Given the description of an element on the screen output the (x, y) to click on. 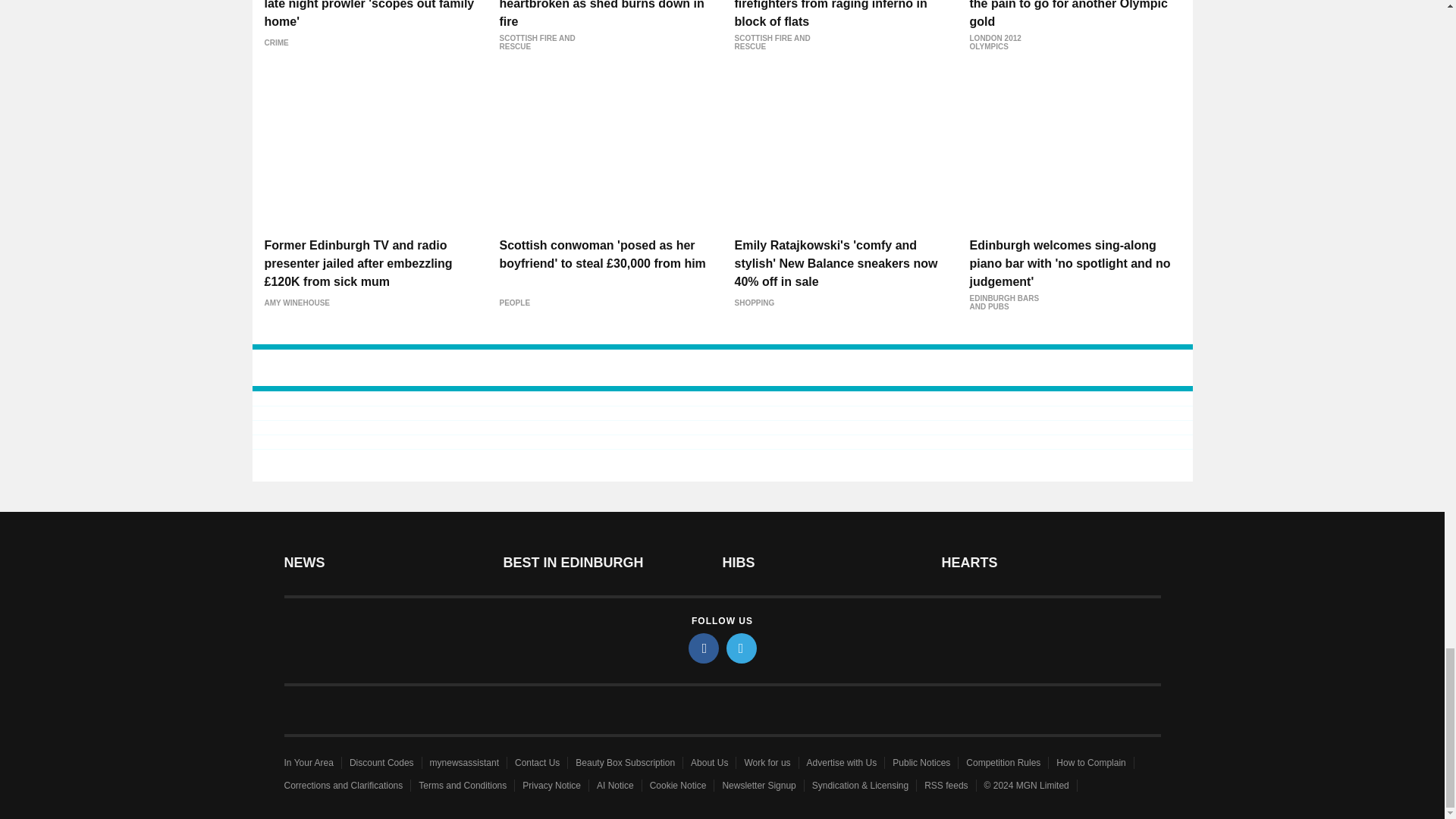
twitter (741, 648)
facebook (703, 648)
